Given the description of an element on the screen output the (x, y) to click on. 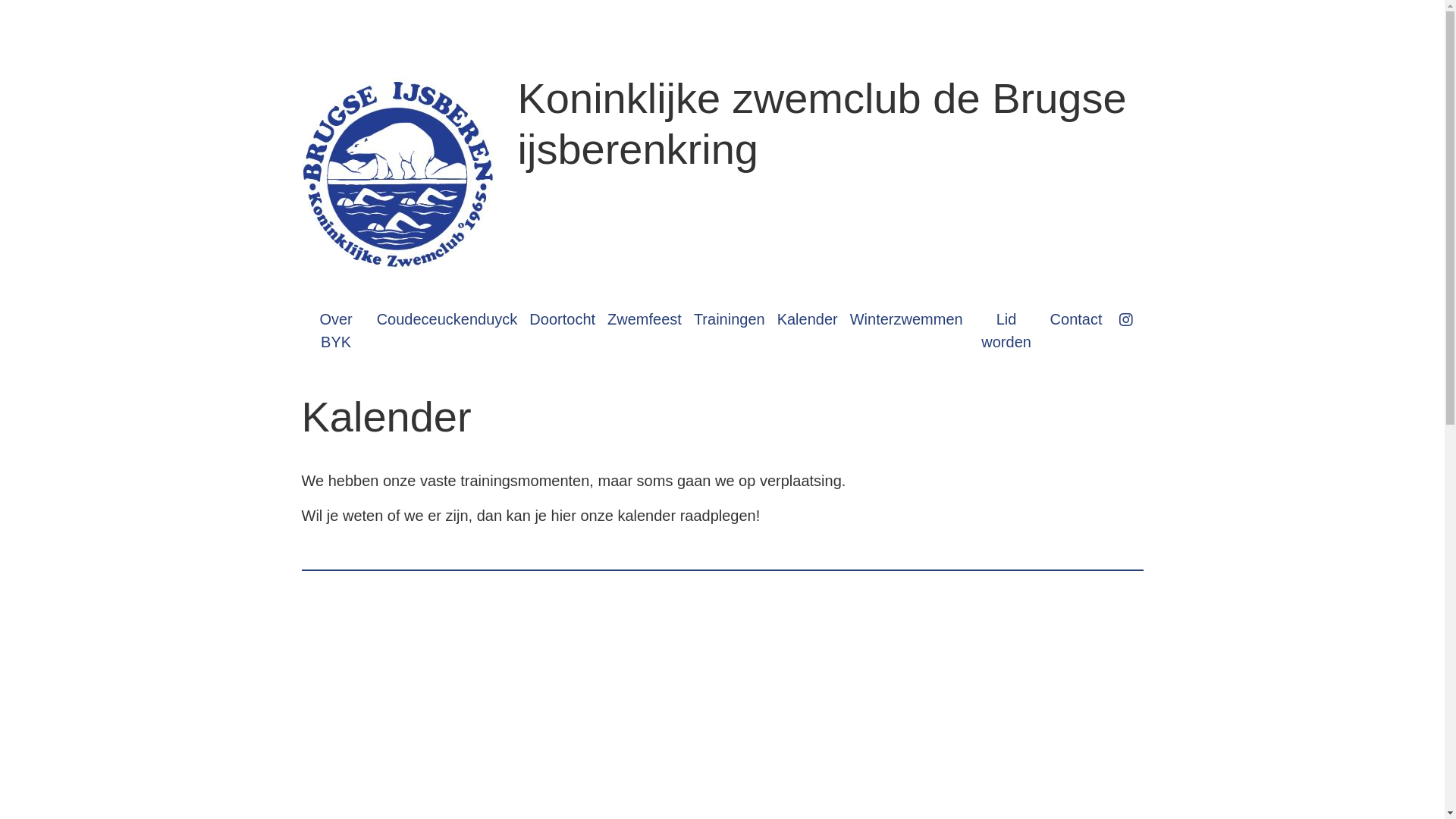
Winterzwemmen Element type: text (906, 318)
Doortocht Element type: text (562, 318)
Over BYK Element type: text (335, 330)
Zwemfeest Element type: text (644, 318)
Coudeceuckenduyck Element type: text (447, 318)
Contact Element type: text (1076, 318)
Trainingen Element type: text (729, 318)
Lid worden Element type: text (1006, 330)
Kalender Element type: text (807, 318)
